Given the description of an element on the screen output the (x, y) to click on. 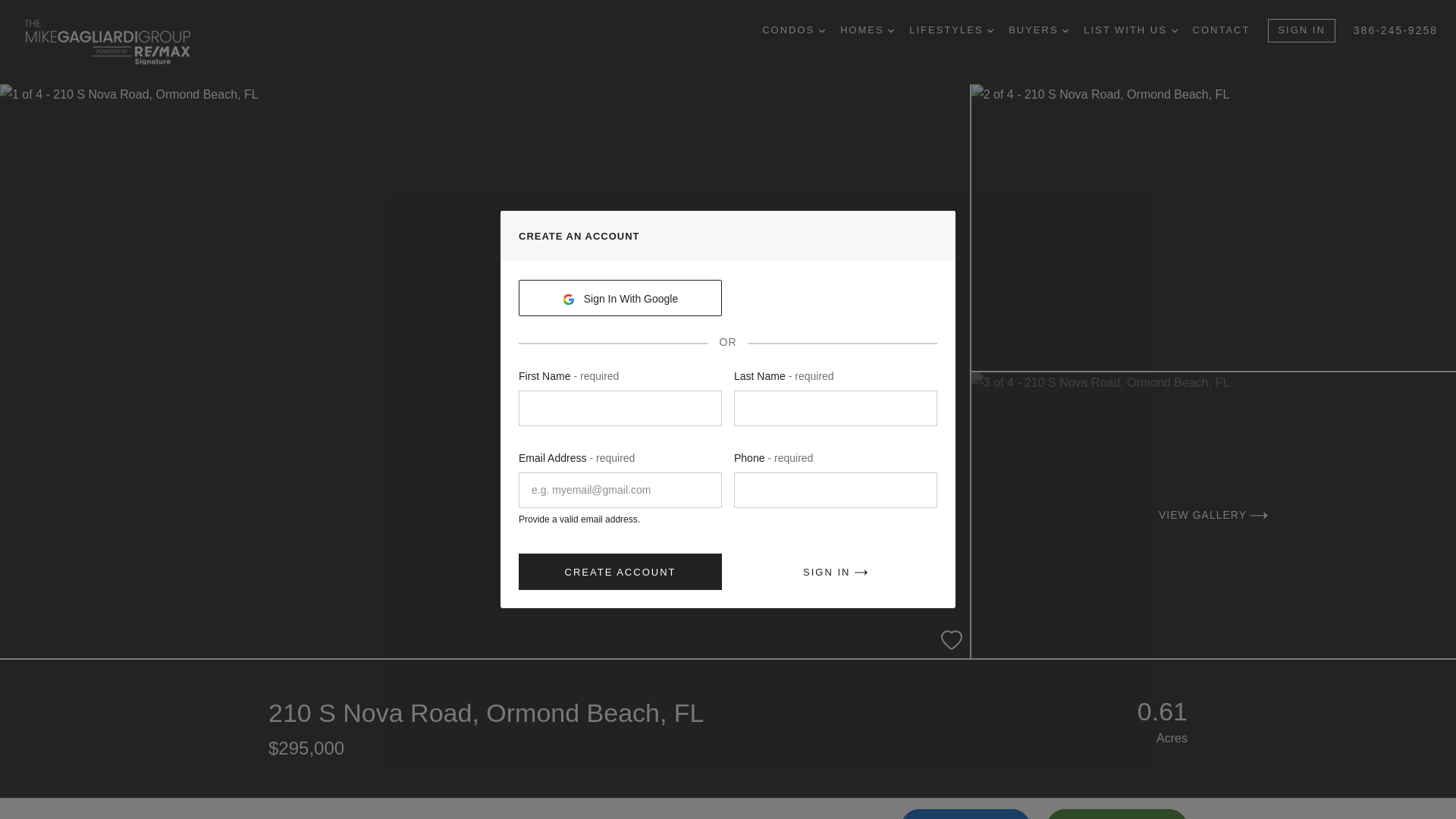
DROPDOWN ARROW (989, 30)
LIFESTYLES DROPDOWN ARROW (950, 30)
CONDOS DROPDOWN ARROW (793, 30)
DROPDOWN ARROW (821, 30)
DROPDOWN ARROW (1065, 30)
HOMES DROPDOWN ARROW (866, 30)
BUYERS DROPDOWN ARROW (1038, 30)
DROPDOWN ARROW (890, 30)
DROPDOWN ARROW (1174, 30)
